Given the description of an element on the screen output the (x, y) to click on. 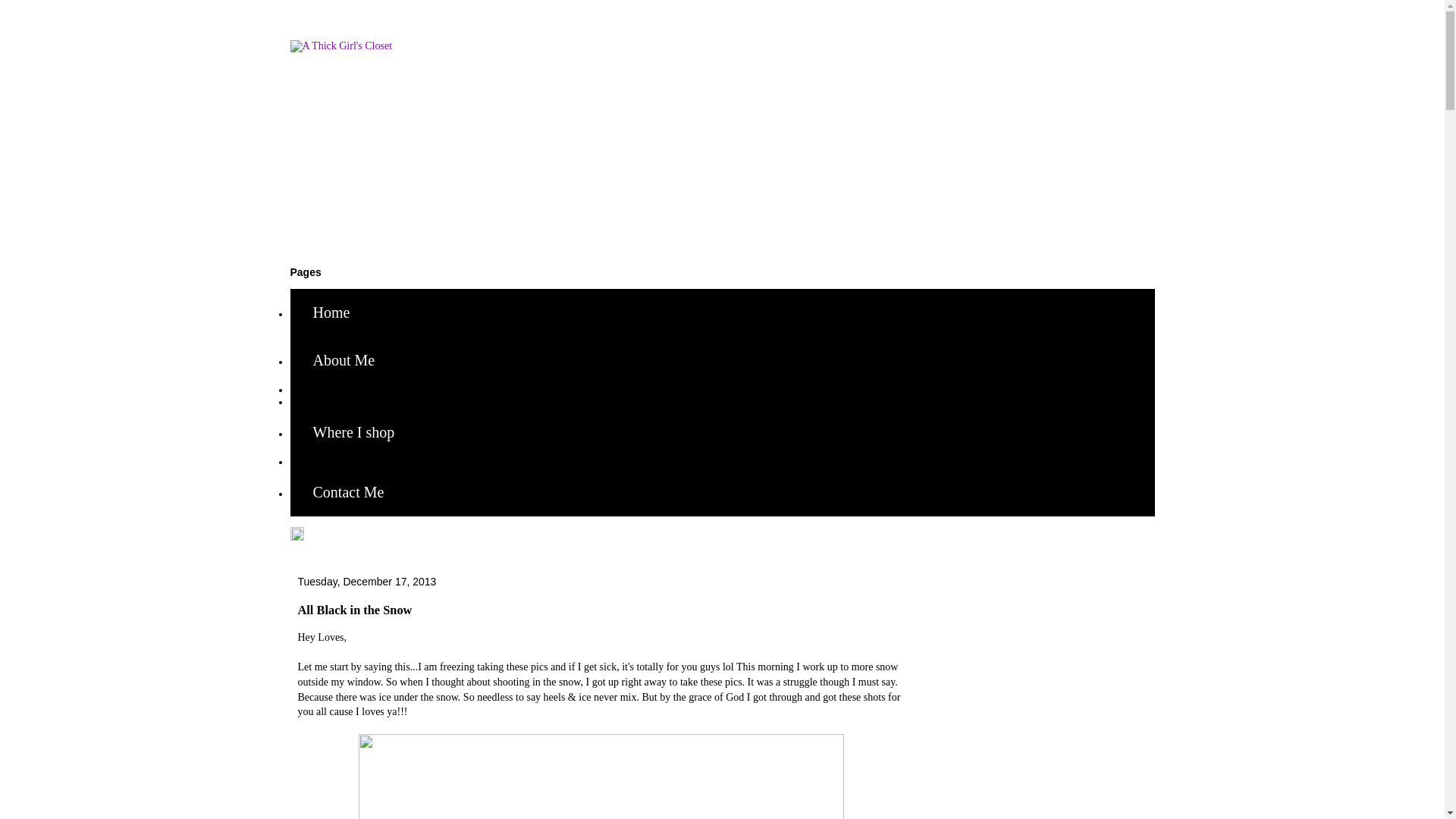
Edit (295, 536)
Contact Me (347, 492)
About Me (343, 360)
Where I shop (352, 432)
Home (330, 312)
